Given the description of an element on the screen output the (x, y) to click on. 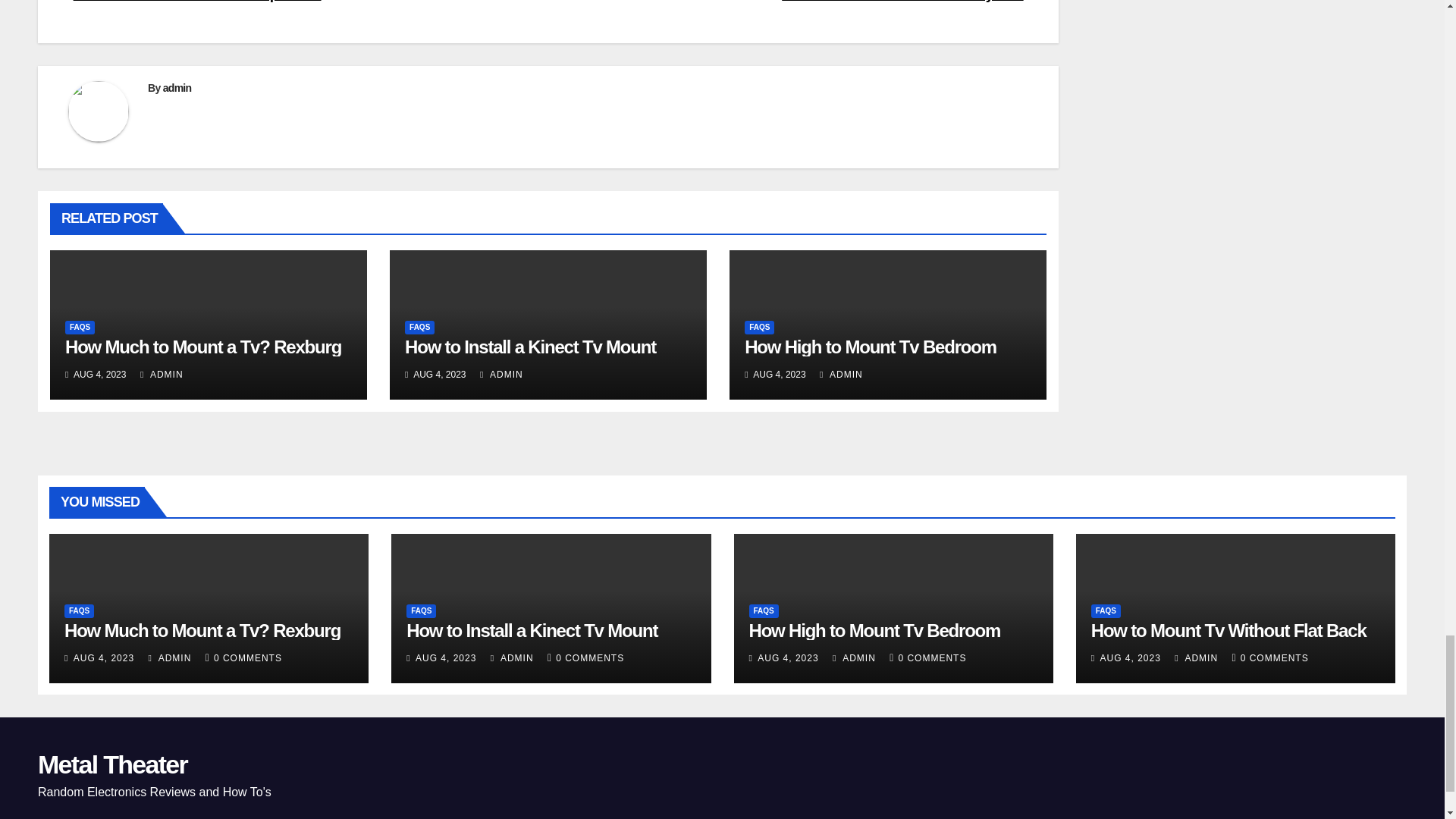
Permalink to: How Much to Mount a Tv? Rexburg (202, 629)
Permalink to: How to Install a Kinect Tv Mount (530, 346)
Permalink to: How Much to Mount a Tv? Rexburg (202, 346)
Permalink to: How High to Mount Tv Bedroom (869, 346)
